Given the description of an element on the screen output the (x, y) to click on. 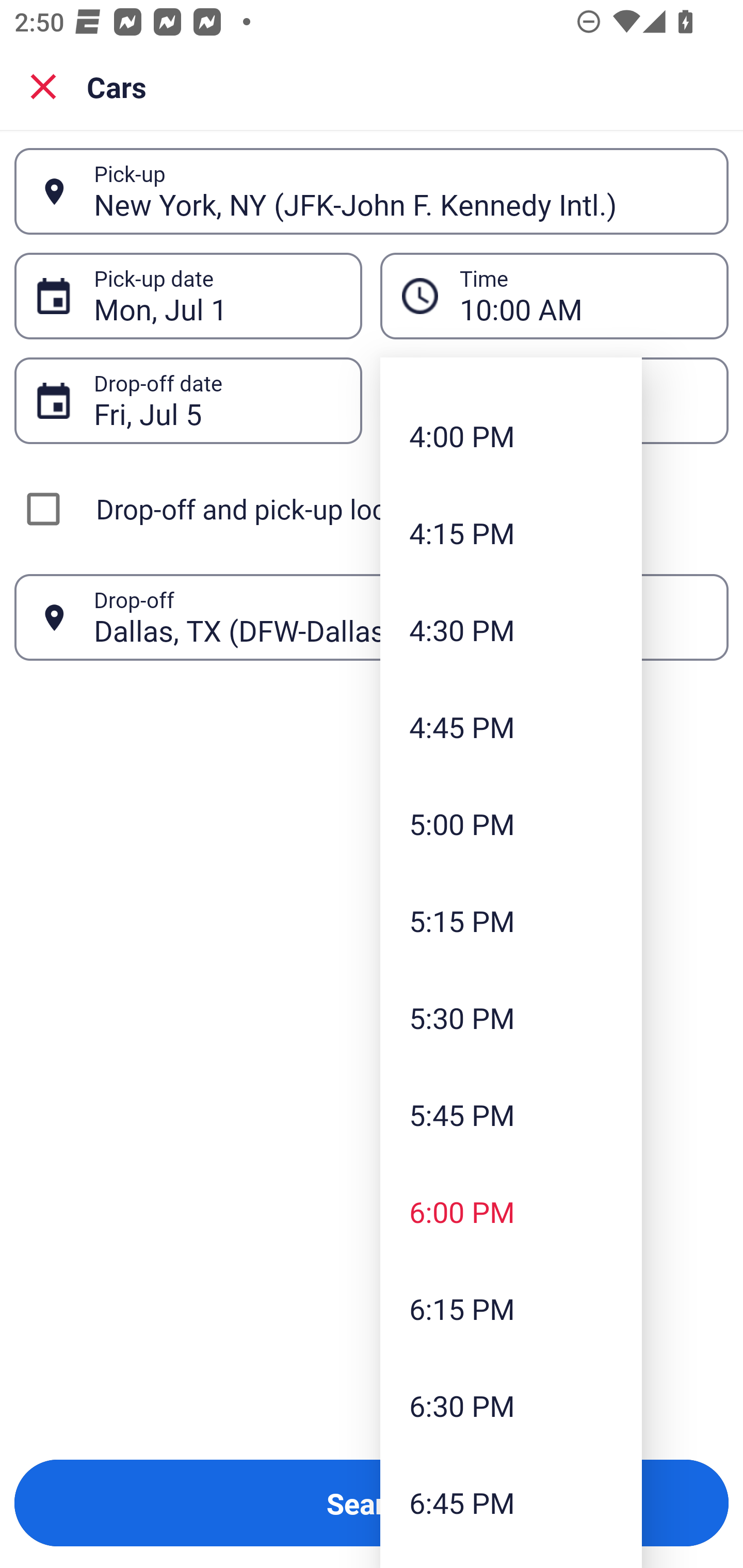
4:00 PM (510, 435)
4:15 PM (510, 532)
4:30 PM (510, 629)
4:45 PM (510, 726)
5:00 PM (510, 822)
5:15 PM (510, 920)
5:30 PM (510, 1017)
5:45 PM (510, 1114)
6:00 PM (510, 1211)
6:15 PM (510, 1308)
6:30 PM (510, 1404)
6:45 PM (510, 1501)
